Given the description of an element on the screen output the (x, y) to click on. 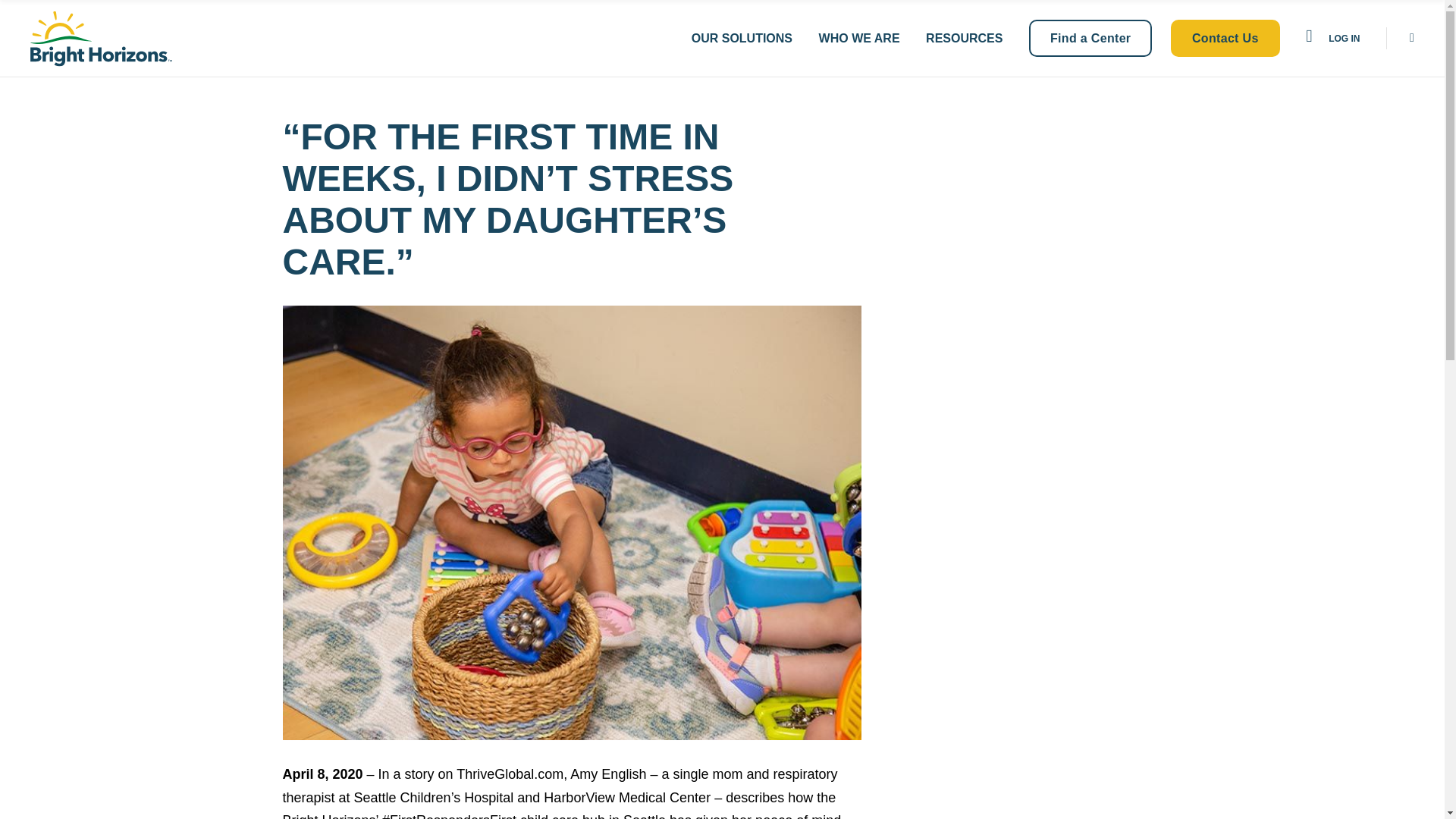
Skip Navigation (60, 14)
WHO WE ARE (858, 38)
OUR SOLUTIONS (741, 38)
Skip to Footer (56, 14)
